Given the description of an element on the screen output the (x, y) to click on. 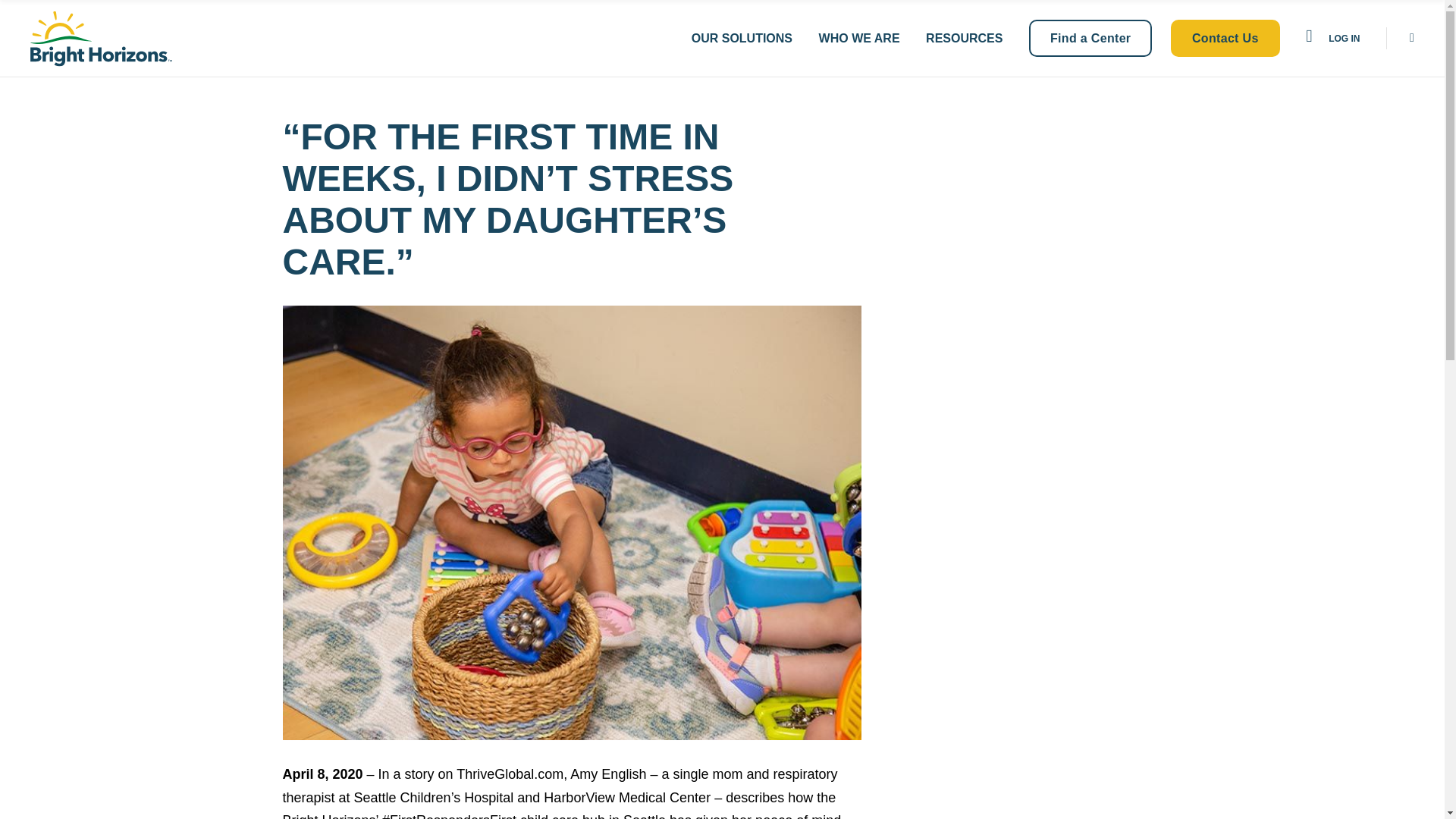
Skip Navigation (60, 14)
WHO WE ARE (858, 38)
OUR SOLUTIONS (741, 38)
Skip to Footer (56, 14)
